Given the description of an element on the screen output the (x, y) to click on. 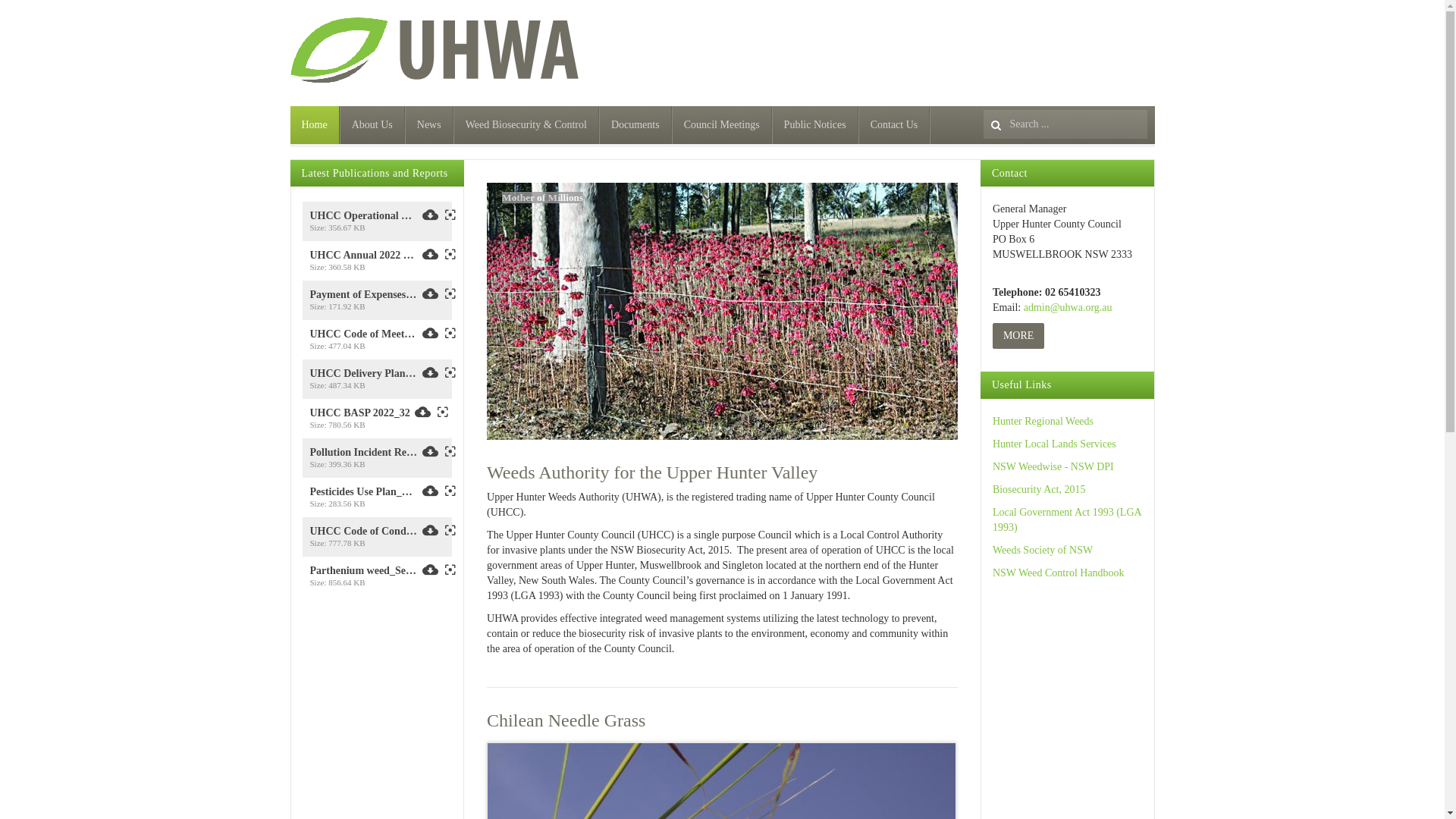
About Us Element type: text (372, 125)
admin@uhwa.org.au Element type: text (1067, 307)
News Element type: text (429, 125)
UHCC Operational Plan 2023_24 Element type: text (363, 215)
UHCC Code of Meeting Practice 2022 Element type: text (363, 334)
Council Meetings Element type: text (721, 125)
Pesticides Use Plan_2021 Element type: text (363, 491)
Upper Hunter Weeds Authority Element type: hover (436, 50)
UHCC Annual 2022 Report Element type: text (363, 255)
Home Element type: text (313, 125)
Contact Us Element type: text (894, 125)
Biosecurity Act, 2015 Element type: text (1038, 489)
Weed Biosecurity & Control Element type: text (526, 125)
Public Notices Element type: text (815, 125)
Pollution Incident Response Management Plan 2021 Element type: text (363, 452)
NSW Weedwise - NSW DPI Element type: text (1052, 466)
Hunter Regional Weeds Element type: text (1042, 420)
UHCC Delivery Plan 2022_2026 Element type: text (363, 373)
NSW Weed Control Handbook Element type: text (1058, 572)
UHCC Code of Conduct November 2020 Element type: text (363, 531)
Documents Element type: text (635, 125)
Hunter Local Lands Services Element type: text (1054, 443)
MORE Element type: text (1018, 335)
UHCC BASP 2022_32 Element type: text (359, 412)
Weeds Society of NSW Element type: text (1042, 549)
Local Government Act 1993 (LGA 1993) Element type: text (1066, 519)
